Given the description of an element on the screen output the (x, y) to click on. 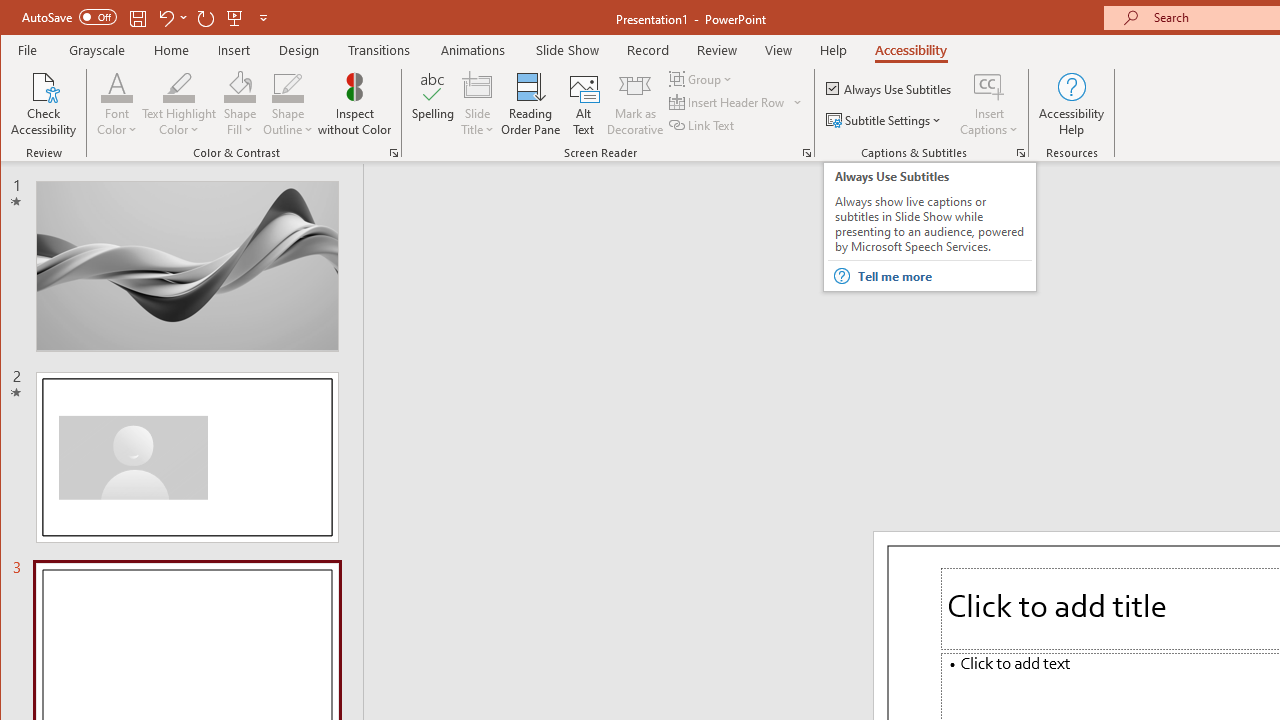
Insert Captions (989, 86)
